Given the description of an element on the screen output the (x, y) to click on. 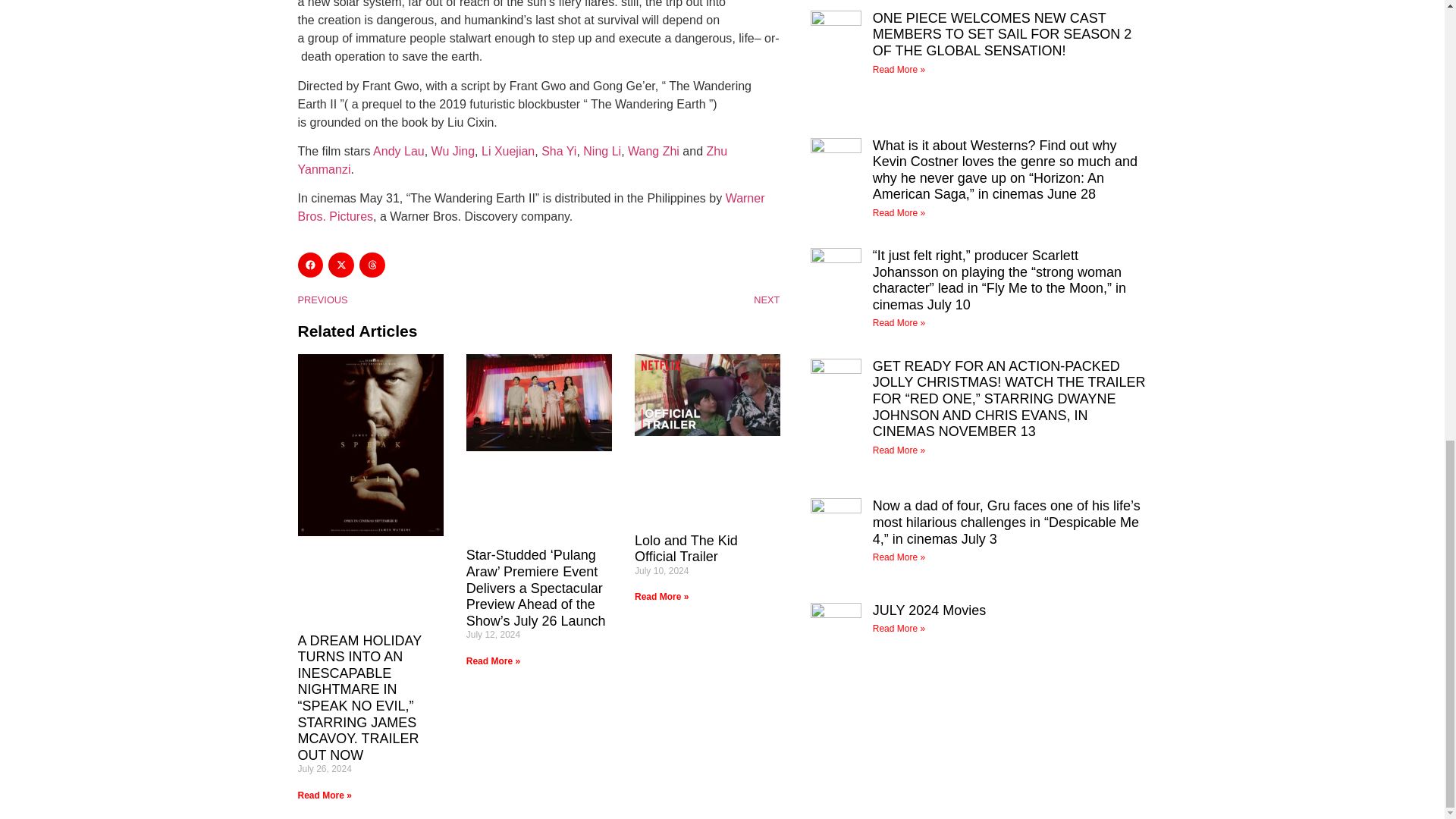
Warner Bros. Pictures (530, 206)
Lolo and The Kid Official Trailer (686, 549)
NEXT (658, 299)
Li Xuejian (507, 151)
Sha Yi (558, 151)
Ning Li (602, 151)
Wang Zhi (653, 151)
Andy Lau (398, 151)
PREVIOUS (417, 299)
Wu Jing (453, 151)
Zhu Yanmanzi (511, 160)
